Given the description of an element on the screen output the (x, y) to click on. 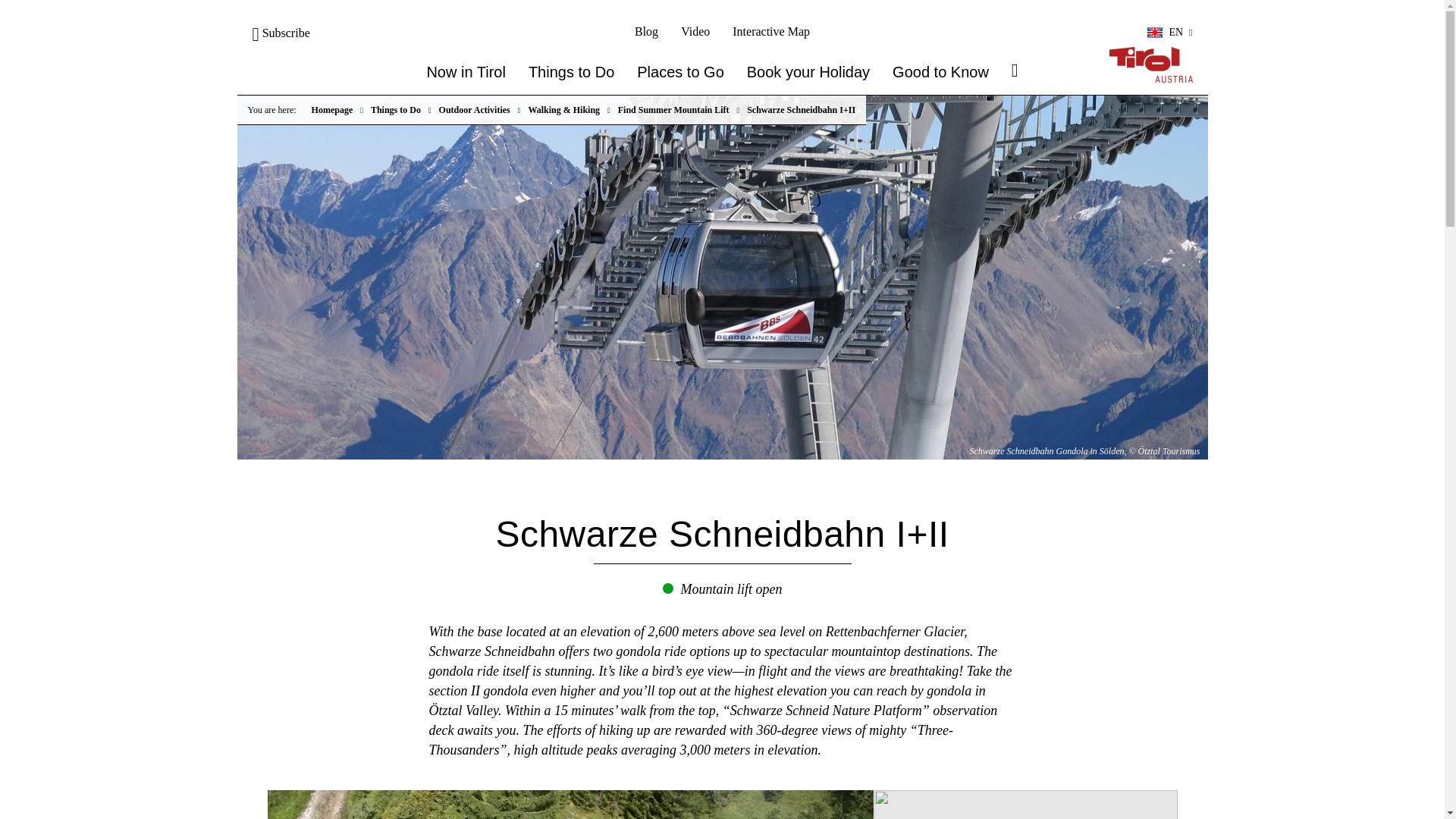
Subscribe (279, 32)
Things to Do (571, 71)
Interactive Map (770, 31)
Blog (646, 31)
Now in Tirol (465, 71)
Video (695, 31)
